Given the description of an element on the screen output the (x, y) to click on. 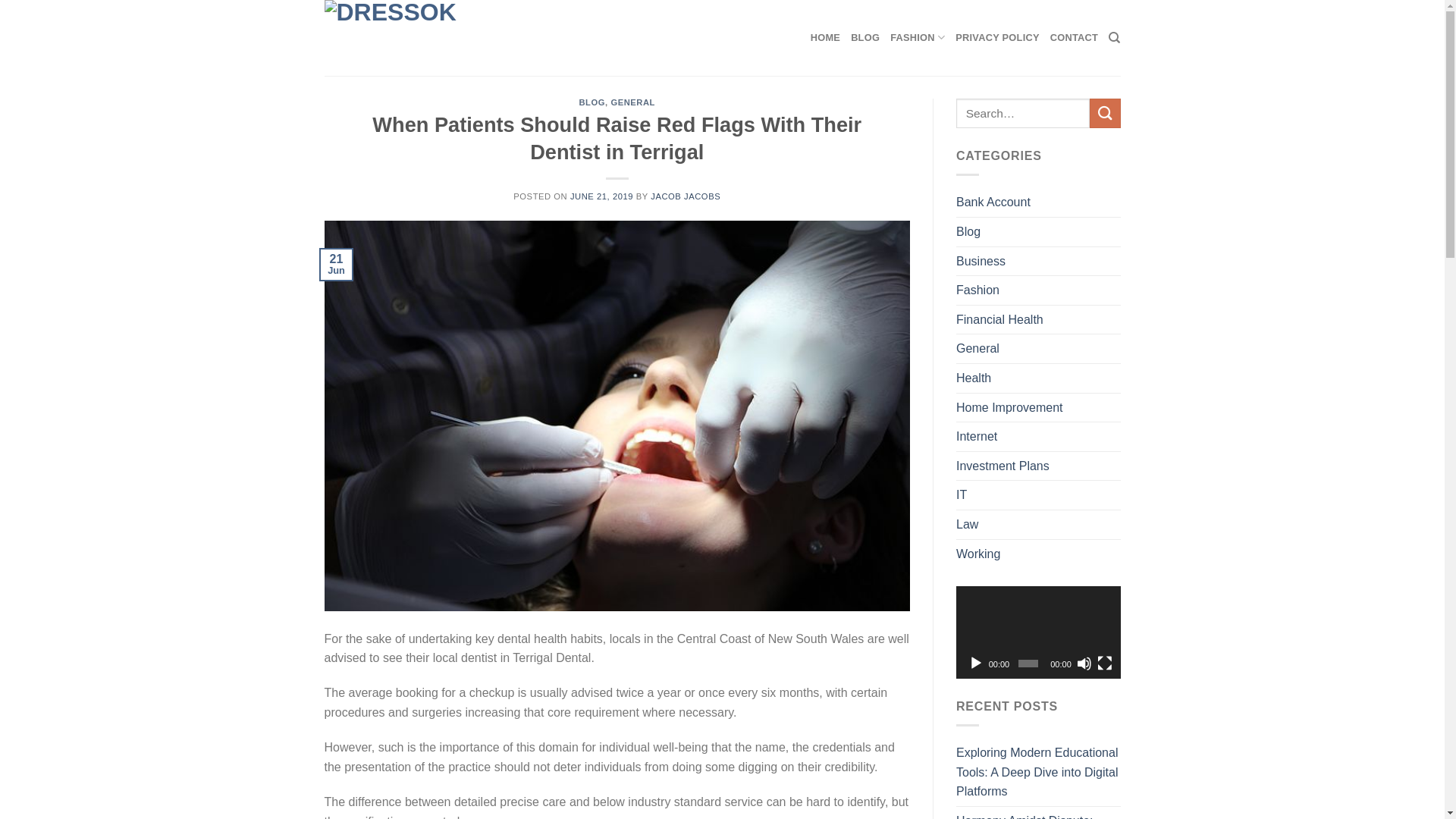
Play Element type: hover (975, 663)
HOME Element type: text (825, 37)
CONTACT Element type: text (1074, 37)
Mute Element type: hover (1084, 663)
Bank Account Element type: text (993, 202)
Investment Plans Element type: text (1002, 465)
Fullscreen Element type: hover (1104, 663)
JACOB JACOBS Element type: text (685, 195)
BLOG Element type: text (591, 101)
PRIVACY POLICY Element type: text (996, 37)
Home Improvement Element type: text (1009, 407)
DressOK - Trendy and techy news Element type: hover (400, 37)
BLOG Element type: text (864, 37)
Internet Element type: text (976, 436)
General Element type: text (977, 348)
IT Element type: text (961, 494)
Blog Element type: text (968, 231)
GENERAL Element type: text (632, 101)
Financial Health Element type: text (999, 319)
Health Element type: text (973, 378)
Law Element type: text (967, 524)
JUNE 21, 2019 Element type: text (601, 195)
Business Element type: text (980, 261)
Working Element type: text (978, 553)
FASHION Element type: text (917, 37)
Fashion Element type: text (977, 290)
